Given the description of an element on the screen output the (x, y) to click on. 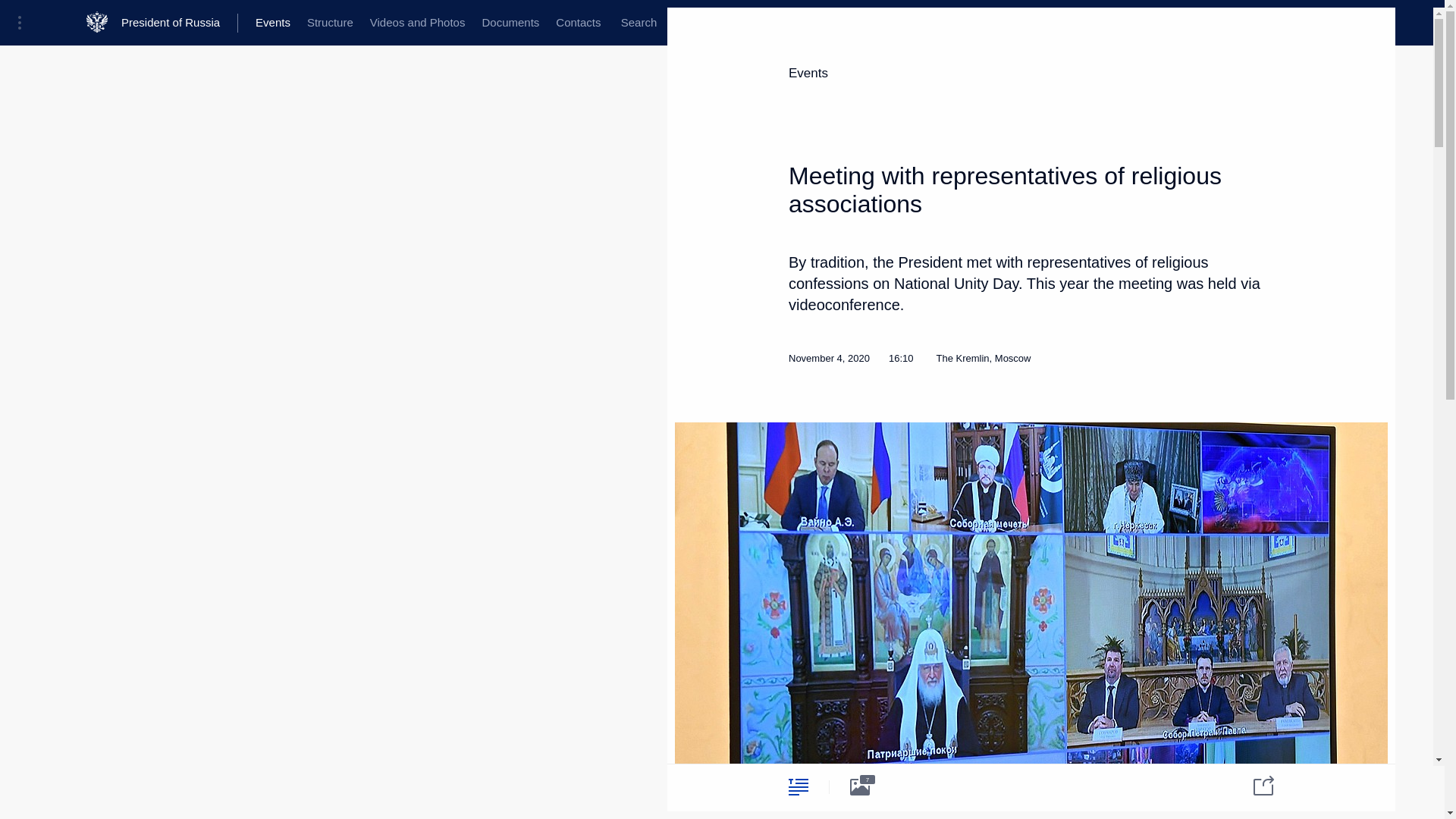
Photo (859, 786)
Portal Menu (24, 22)
President of Russia (179, 22)
Global website search (638, 22)
Search (638, 22)
Structure (329, 22)
Text (798, 786)
Share (1253, 784)
Videos and Photos (417, 22)
